Given the description of an element on the screen output the (x, y) to click on. 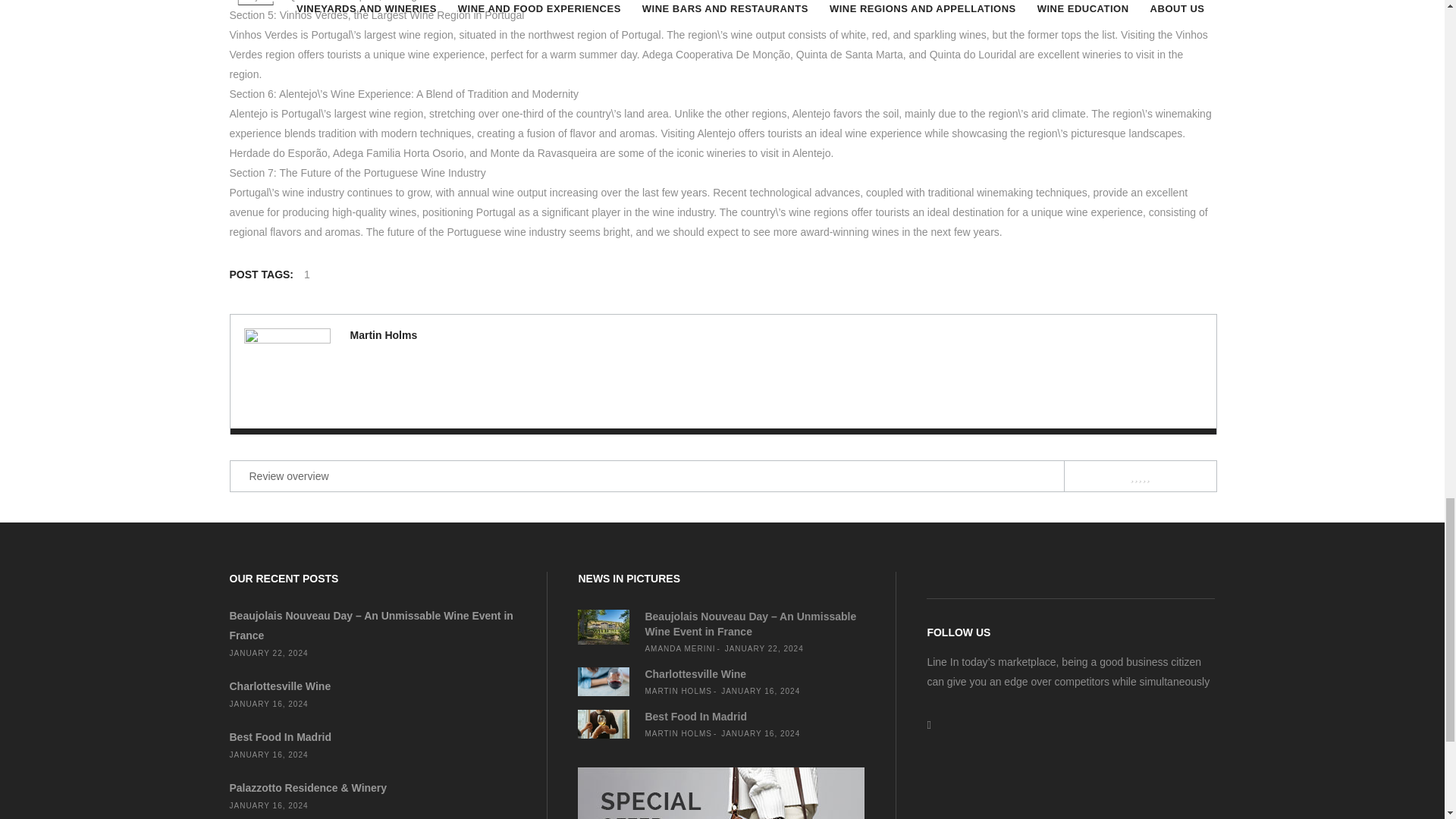
1 (307, 273)
Best Food In Madrid (279, 736)
Martin Holms (383, 335)
Charlottesville Wine (279, 686)
